Given the description of an element on the screen output the (x, y) to click on. 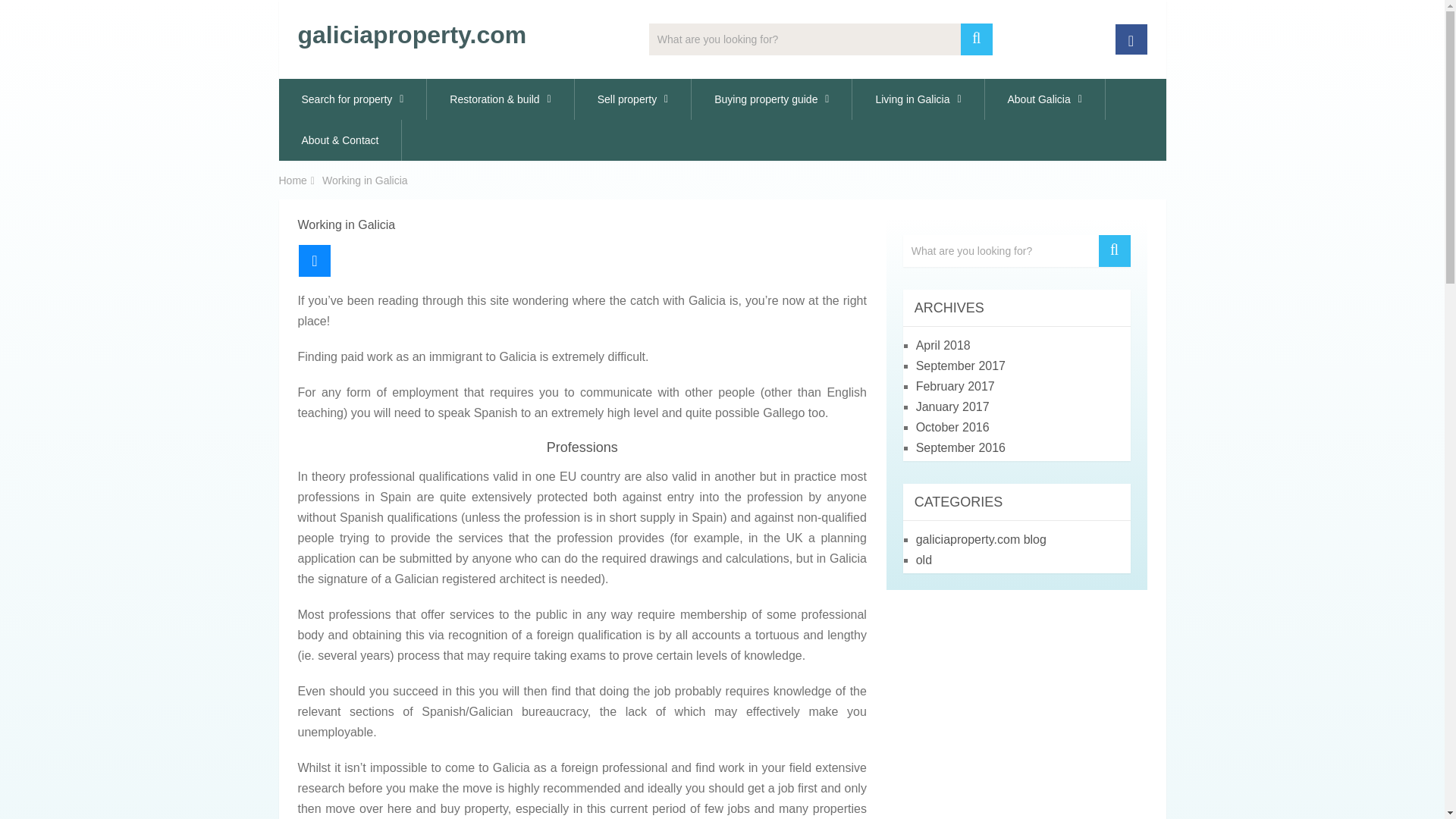
galiciaproperty.com (411, 34)
Living in Galicia (917, 98)
Buying property guide (771, 98)
Blog postings on galiciaproperty.com (980, 539)
Search for property (352, 98)
Sell property (633, 98)
